Given the description of an element on the screen output the (x, y) to click on. 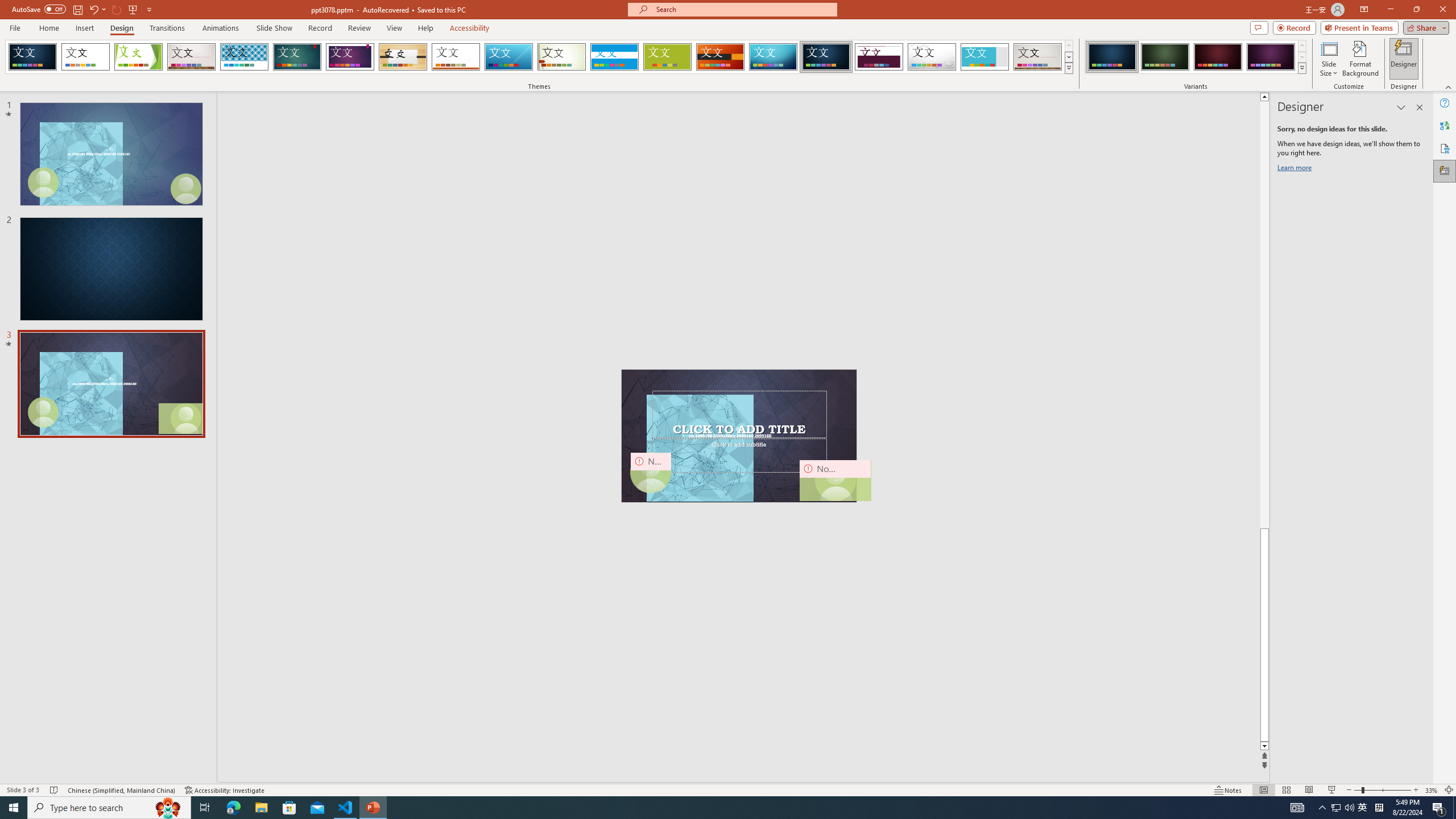
Organic (403, 56)
Camera 14, No camera detected. (834, 479)
Title TextBox (739, 414)
